Given the description of an element on the screen output the (x, y) to click on. 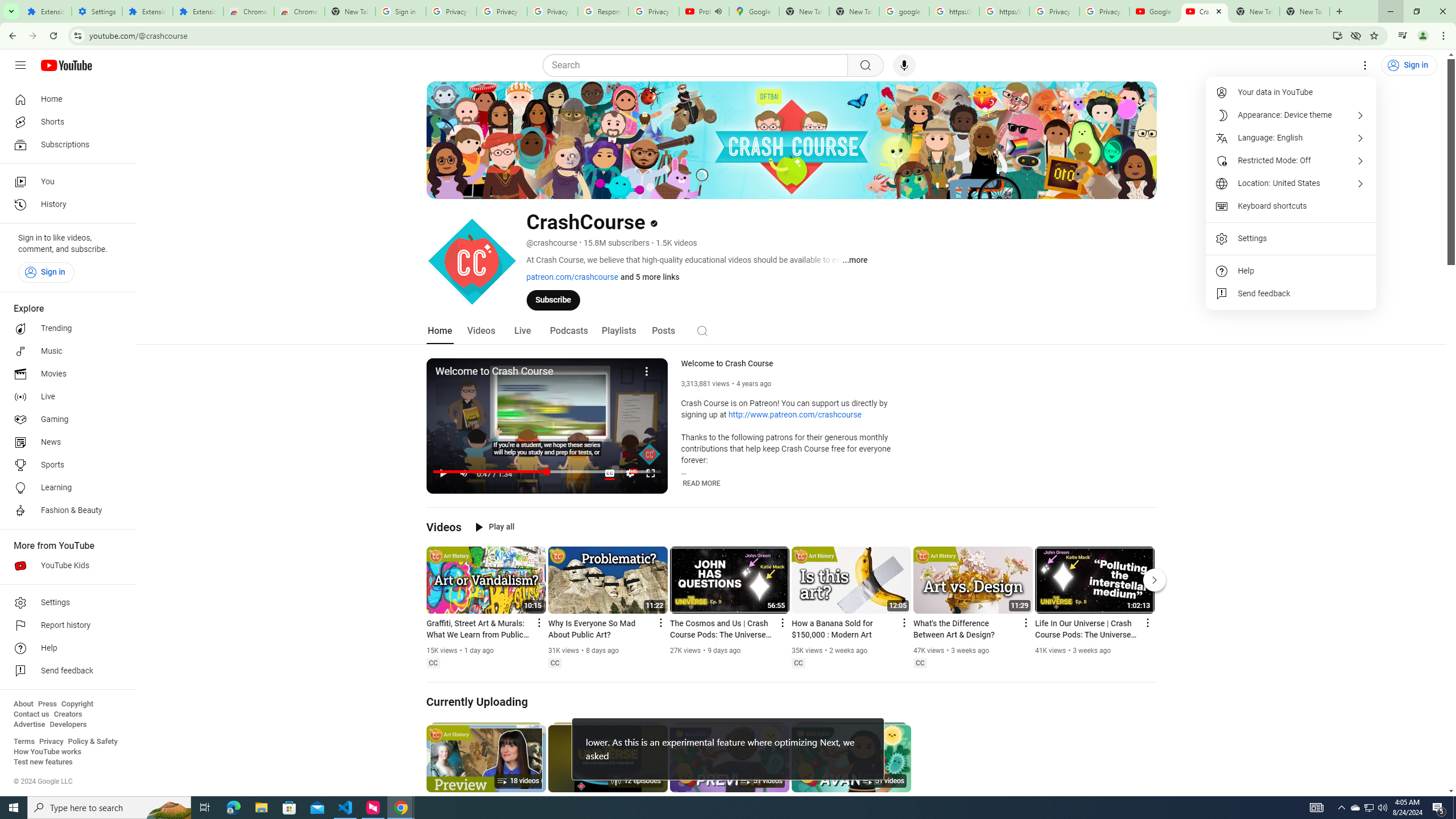
Shorts (64, 121)
Developers (68, 724)
Home (64, 99)
CrashCourse - YouTube (1204, 11)
Full screen keyboard shortcut f (650, 472)
https://scholar.google.com/ (954, 11)
http://www.patreon.com/crashcourse (794, 414)
